Given the description of an element on the screen output the (x, y) to click on. 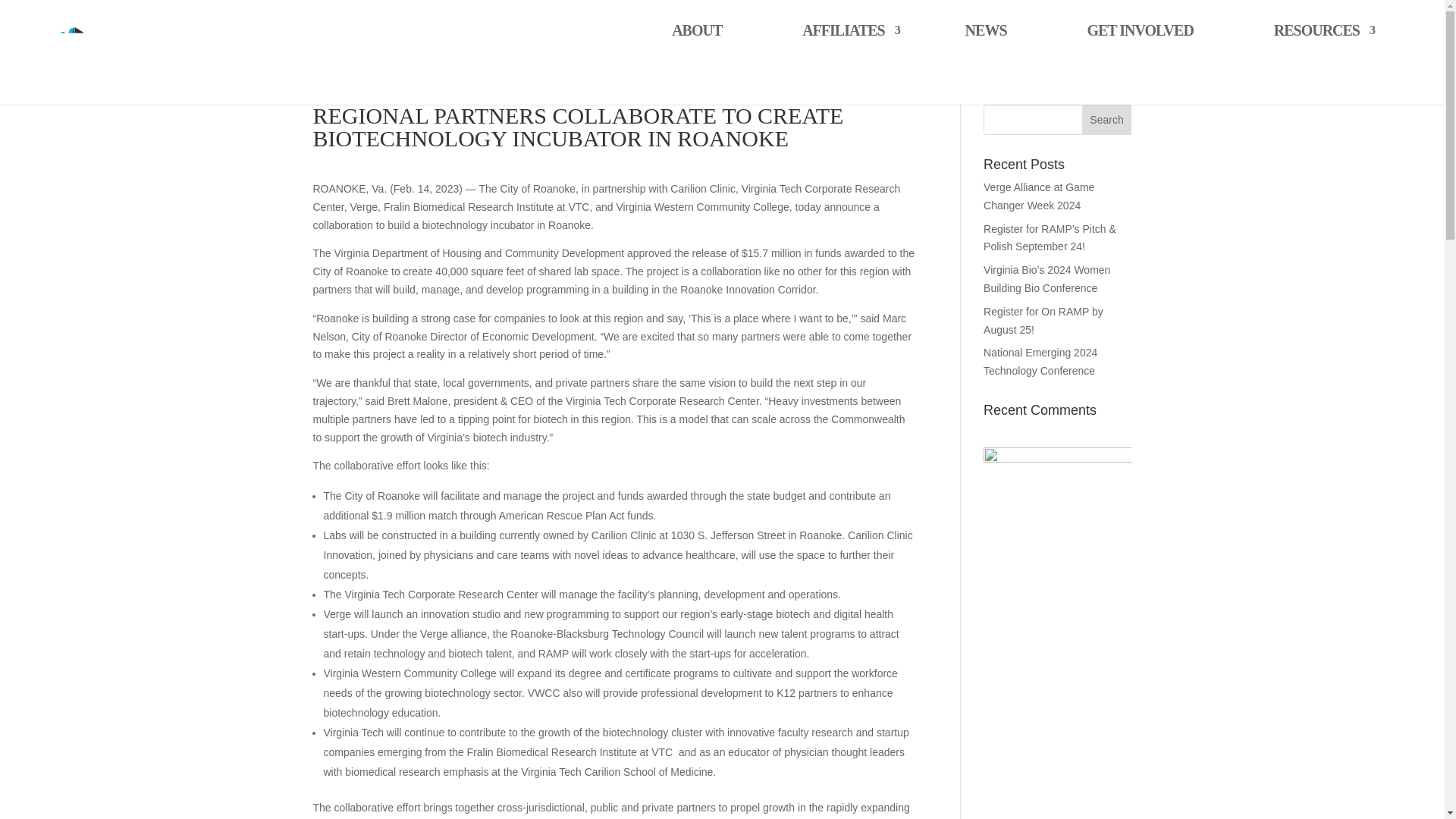
ABOUT (696, 64)
RESOURCES (1316, 64)
NEWS (986, 64)
Search (1106, 119)
GET INVOLVED (1139, 64)
AFFILIATES (843, 64)
Verge Alliance at Game Changer Week 2024 (1039, 195)
Search (1106, 119)
Register for On RAMP by August 25! (1043, 320)
